Given the description of an element on the screen output the (x, y) to click on. 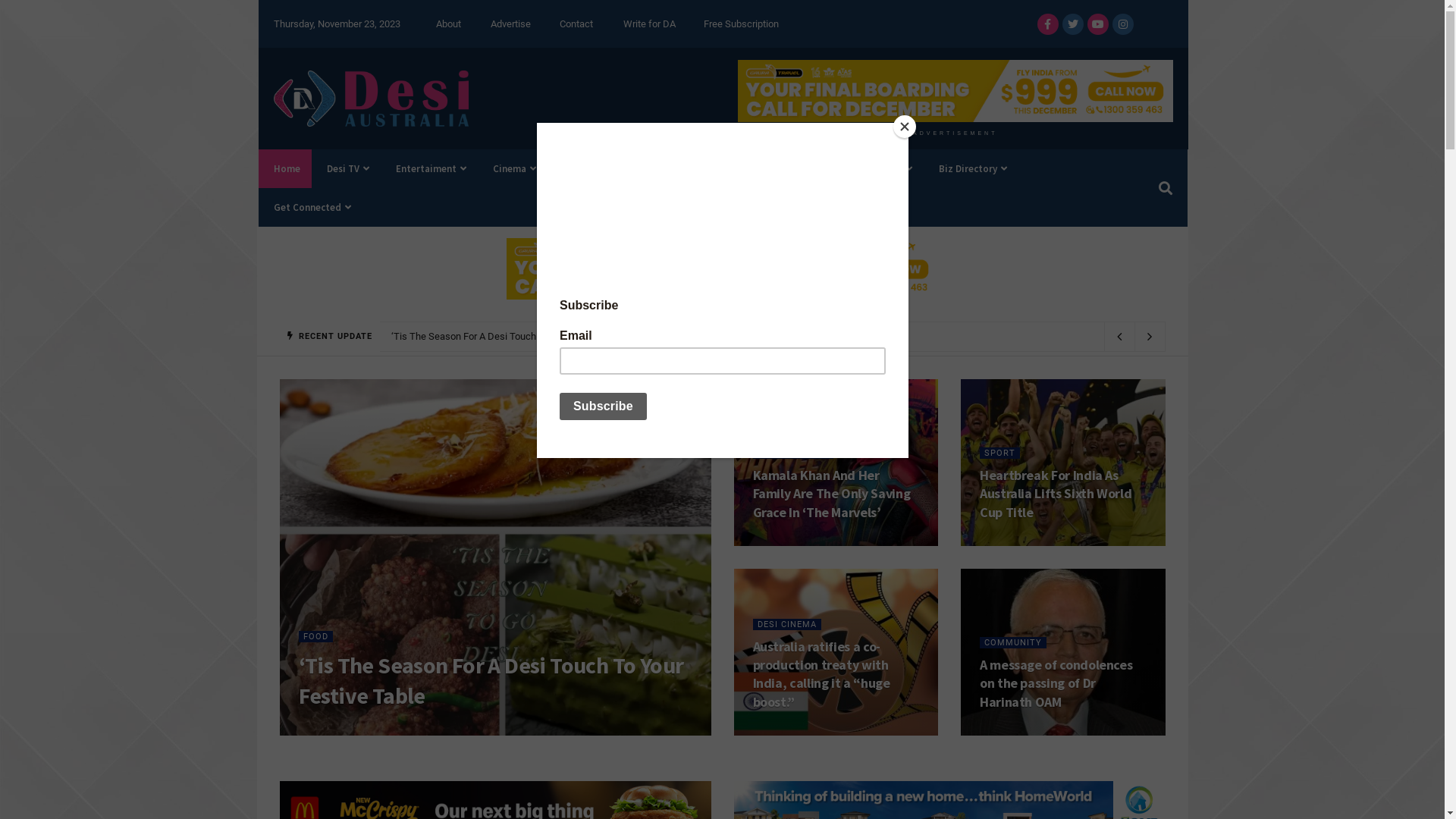
Biz Directory Element type: text (970, 168)
Get Connected Element type: text (310, 207)
ENTERTAIMENT Element type: text (792, 452)
FOOD Element type: text (315, 636)
Write for DA Element type: text (649, 23)
SPORT Element type: text (999, 452)
Desi TV Element type: text (345, 168)
Free Subscription Element type: text (740, 23)
Entertaiment Element type: text (428, 168)
COMMUNITY Element type: text (1012, 642)
News Element type: text (577, 168)
Food Element type: text (893, 168)
Advertise Element type: text (510, 23)
Home Element type: text (284, 168)
DESI CINEMA Element type: text (786, 624)
Publication Element type: text (652, 168)
Life Style Element type: text (823, 168)
Contact Element type: text (576, 23)
Mag Corner Element type: text (740, 168)
Search Element type: hover (1161, 187)
A message of condolences on the passing of Dr Harinath OAM Element type: text (1055, 682)
About Element type: text (448, 23)
Cinema Element type: text (512, 168)
